Given the description of an element on the screen output the (x, y) to click on. 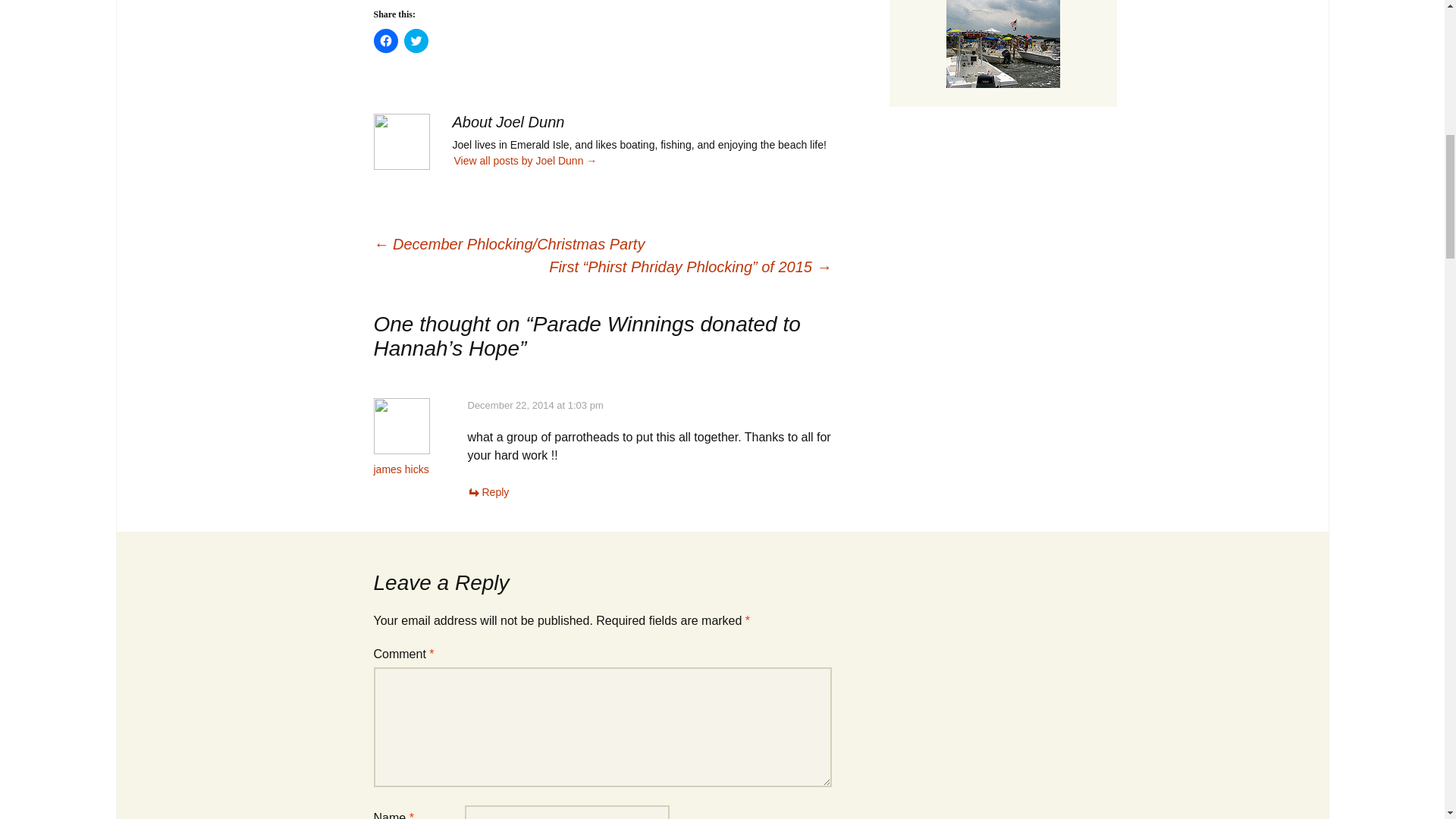
Click to share on Facebook (384, 40)
December 22, 2014 at 1:03 pm (534, 405)
Reply (487, 491)
EIPHC Island Party (1002, 43)
Click to share on Twitter (415, 40)
